Given the description of an element on the screen output the (x, y) to click on. 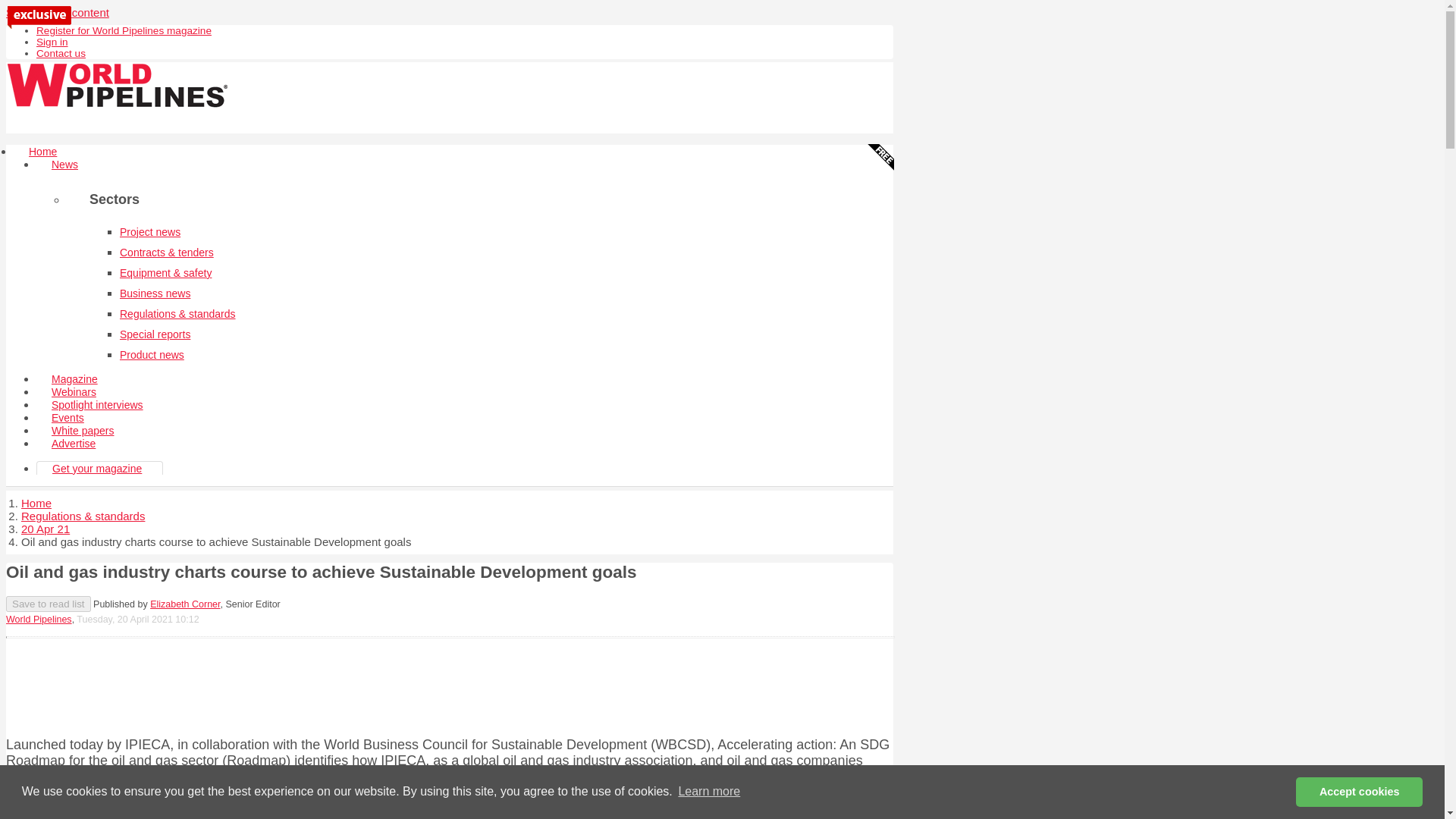
3rd party ad content (449, 683)
Business news (154, 293)
Project news (149, 232)
Webinars (74, 391)
Learn more (708, 791)
World Pipelines (38, 619)
Contact us (60, 52)
Home (42, 151)
Get your magazine (97, 468)
20 Apr 21 (45, 528)
Accept cookies (1358, 791)
Skip to main content (57, 11)
Register for World Pipelines magazine (123, 30)
Special reports (154, 334)
Advertise (73, 443)
